Given the description of an element on the screen output the (x, y) to click on. 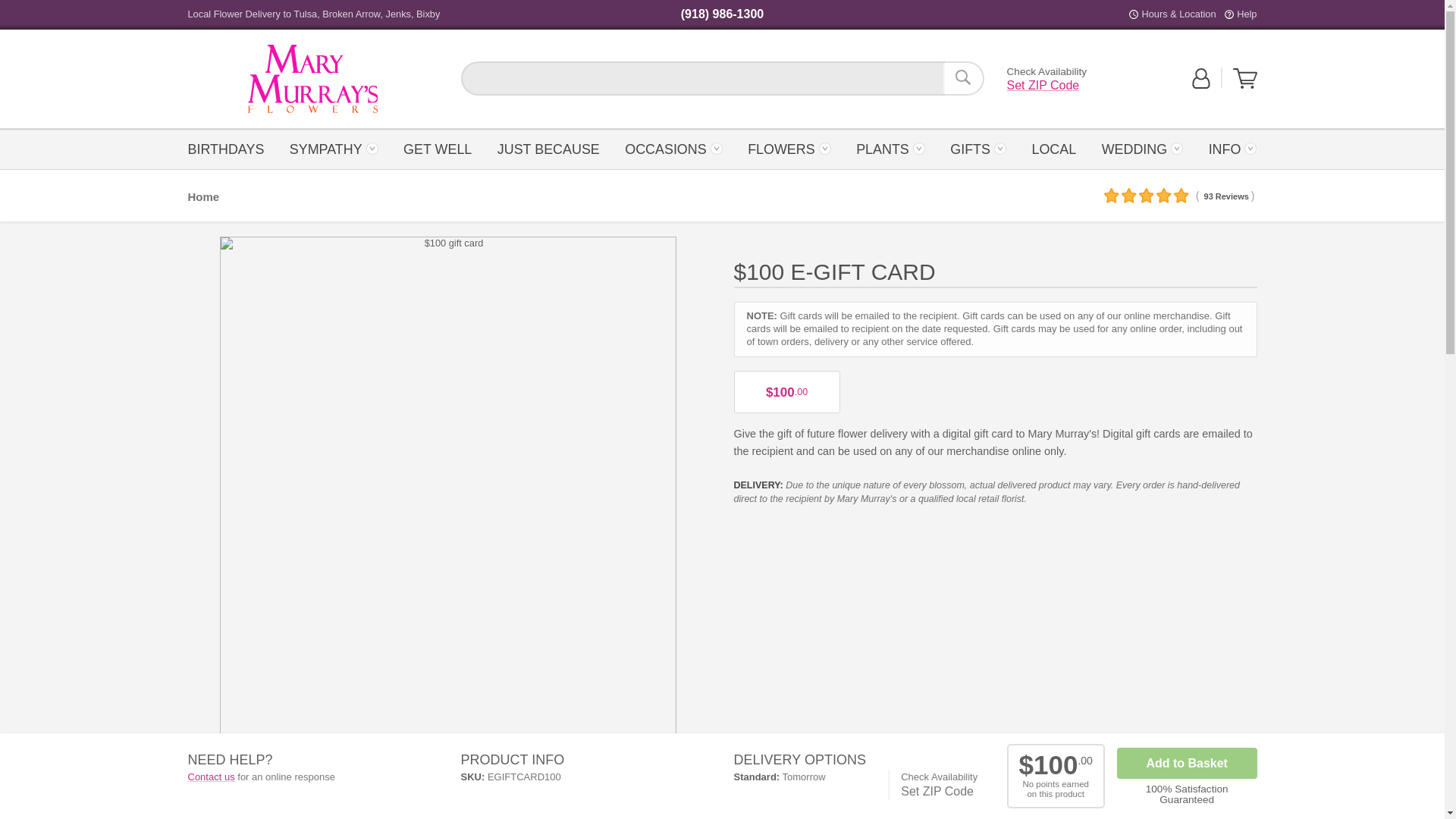
BIRTHDAYS (230, 147)
Help (1246, 13)
GET WELL (437, 147)
Back to the Home Page (312, 79)
SYMPATHY (334, 147)
Search (963, 78)
Mary Murray's Flowers Logo (312, 79)
Set ZIP Code (312, 79)
View Your Shopping Cart (1043, 85)
OCCASIONS (1245, 78)
View Your Shopping Cart (672, 147)
JUST BECAUSE (1245, 85)
